Given the description of an element on the screen output the (x, y) to click on. 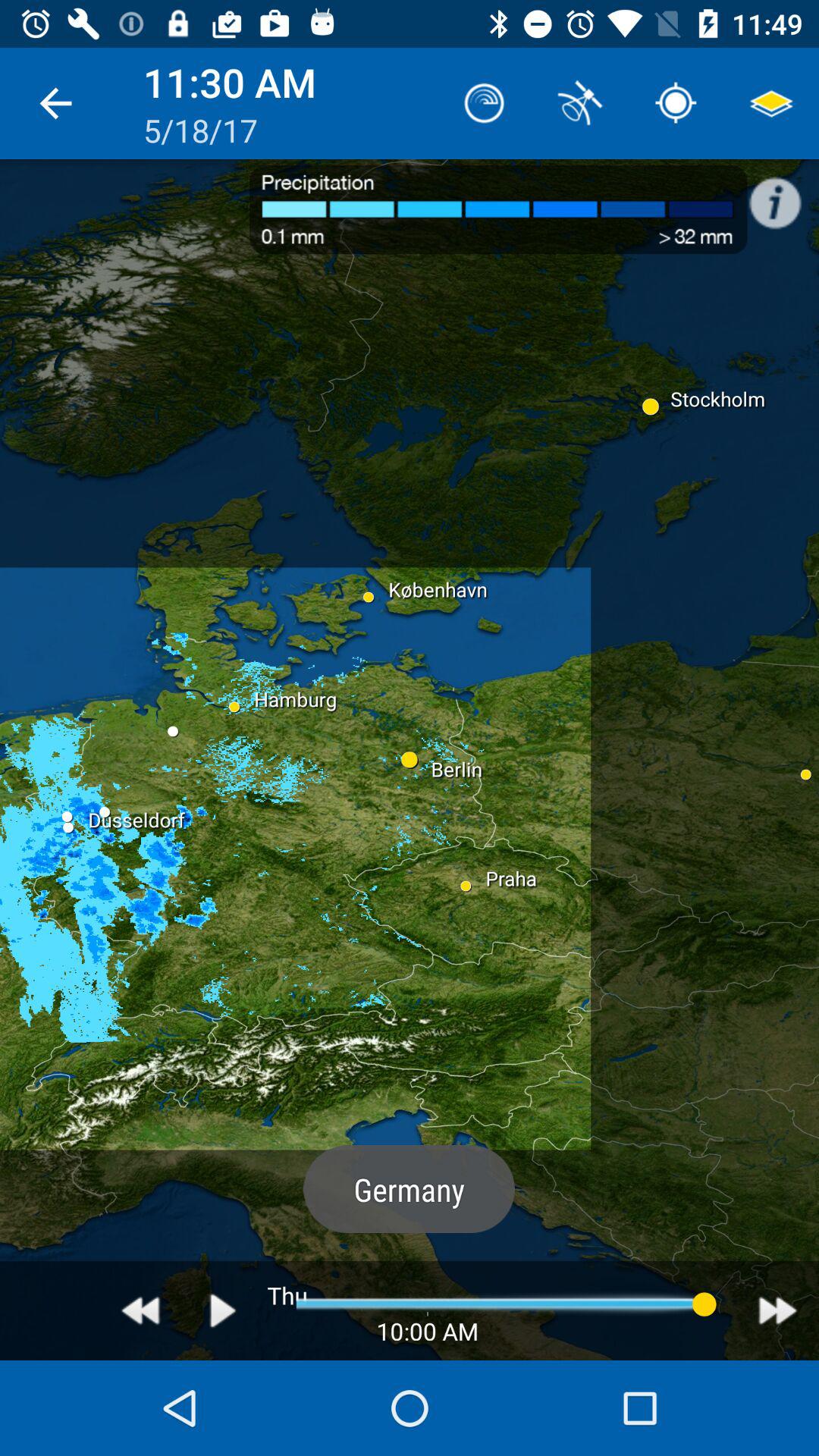
go to previous (140, 1310)
